Given the description of an element on the screen output the (x, y) to click on. 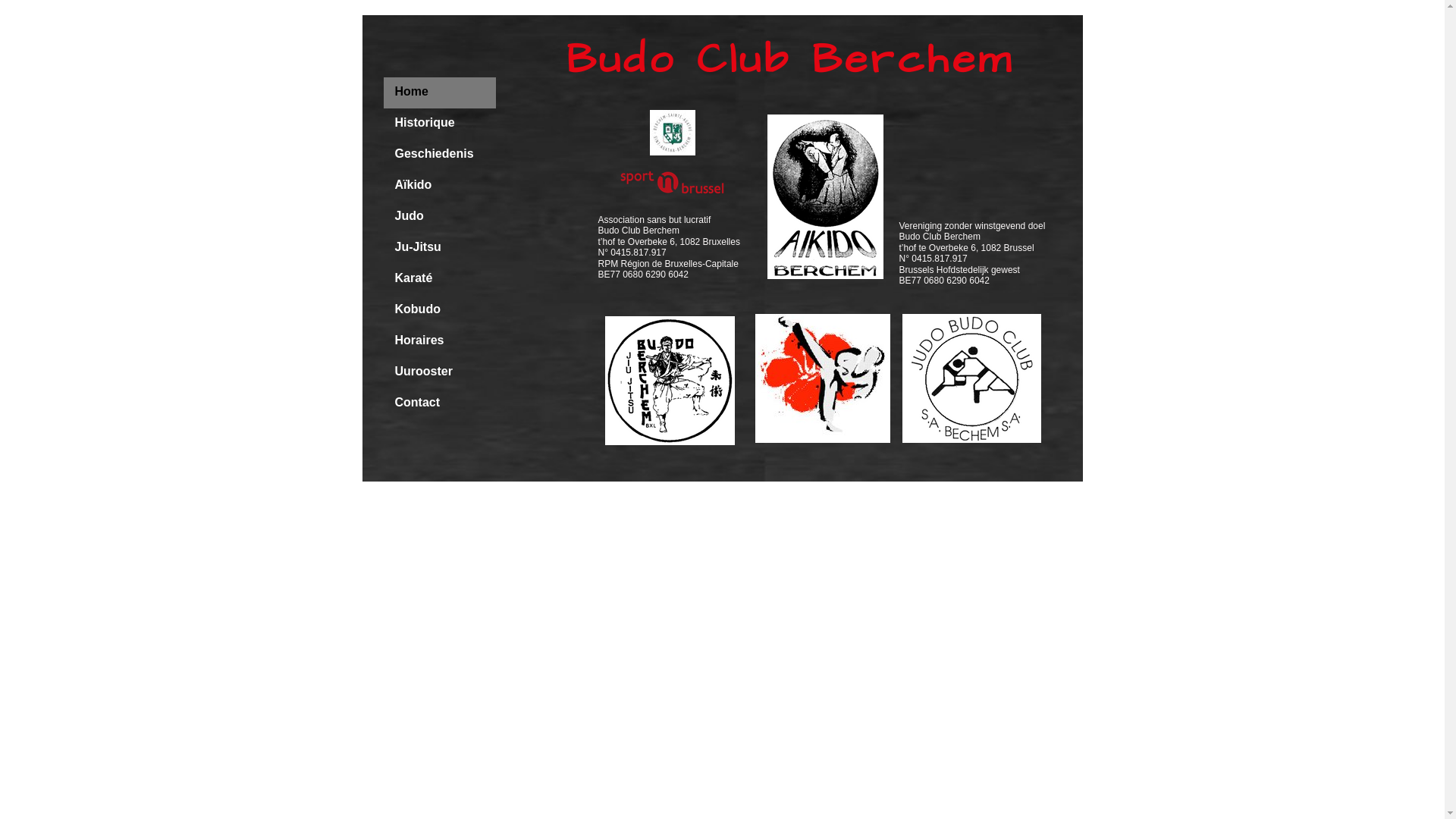
Horaires Element type: text (439, 341)
Geschiedenis Element type: text (439, 154)
Historique Element type: text (439, 123)
Judo Element type: text (439, 216)
Contact Element type: text (439, 403)
Home Element type: text (439, 92)
Kobudo Element type: text (439, 310)
Uurooster Element type: text (439, 372)
Ju-Jitsu Element type: text (439, 247)
